Given the description of an element on the screen output the (x, y) to click on. 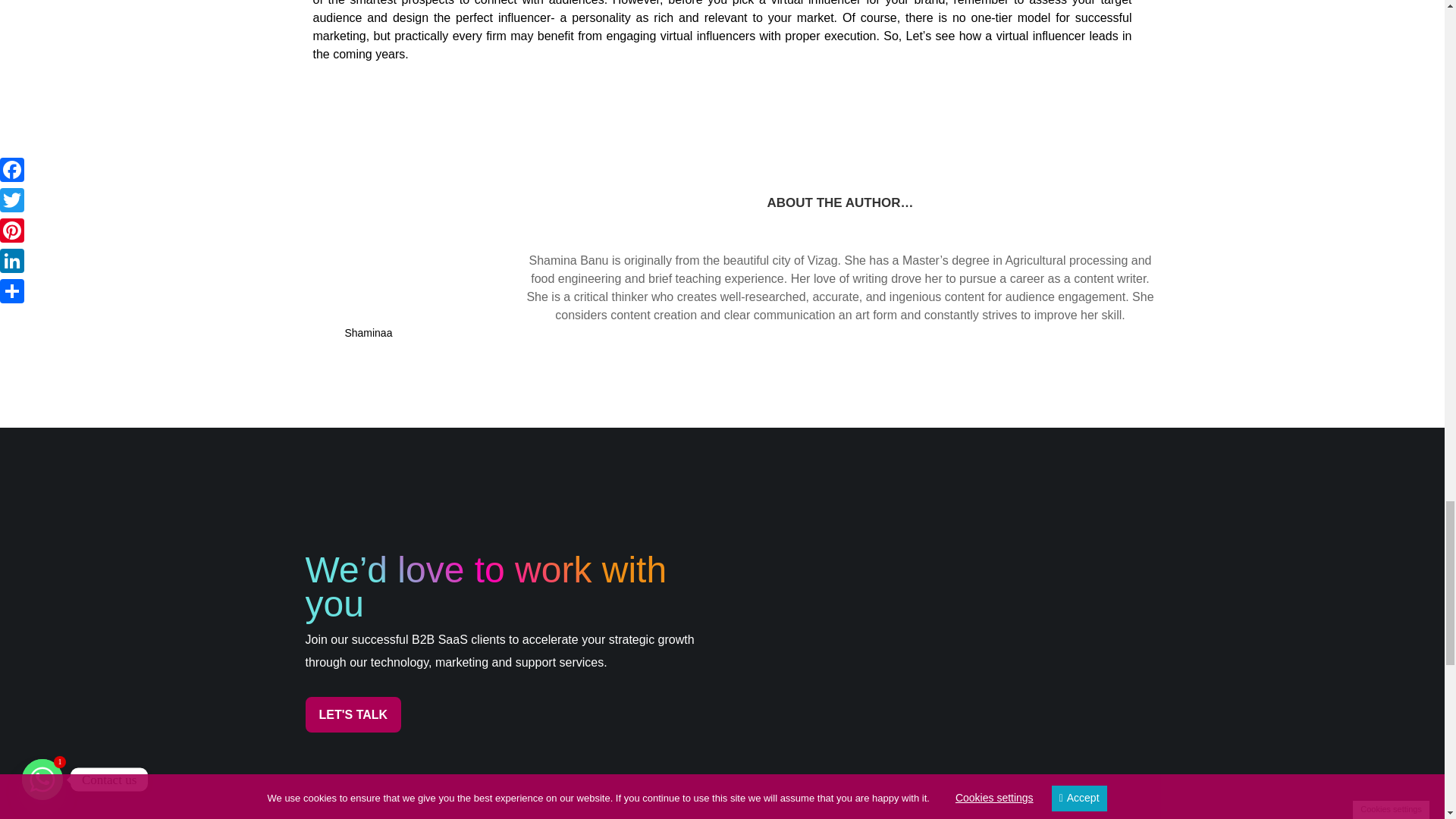
Prashanthi Kolluru - Founder - KloudPortal (970, 602)
FAC-Signature (970, 745)
